Given the description of an element on the screen output the (x, y) to click on. 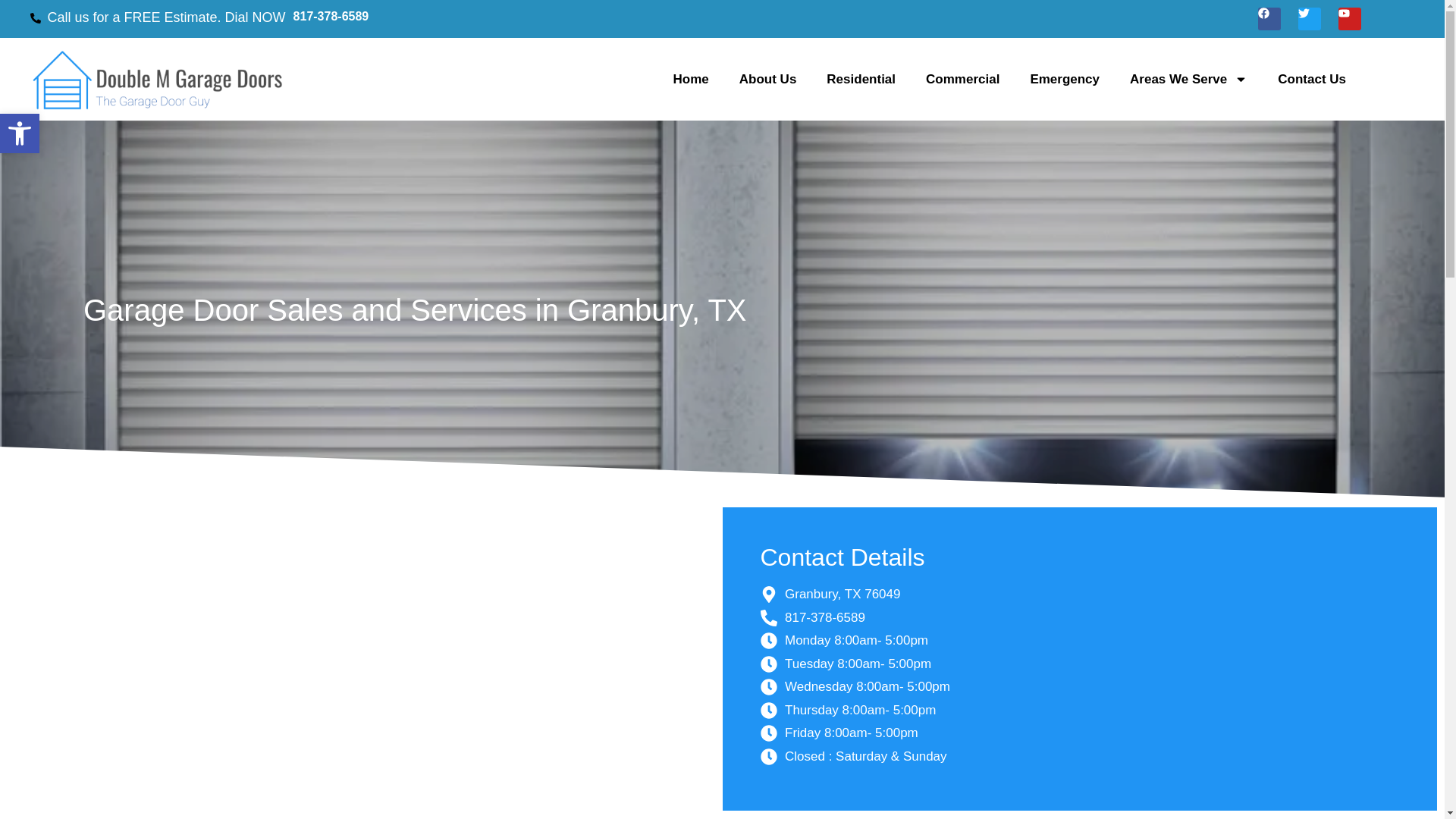
Residential (860, 79)
Contact Us (1311, 79)
817-378-6589 (331, 15)
Emergency (1064, 79)
Accessibility Tools (19, 133)
About Us (767, 79)
Home (690, 79)
Commercial (962, 79)
Accessibility Tools (19, 133)
Areas We Serve (19, 133)
